Given the description of an element on the screen output the (x, y) to click on. 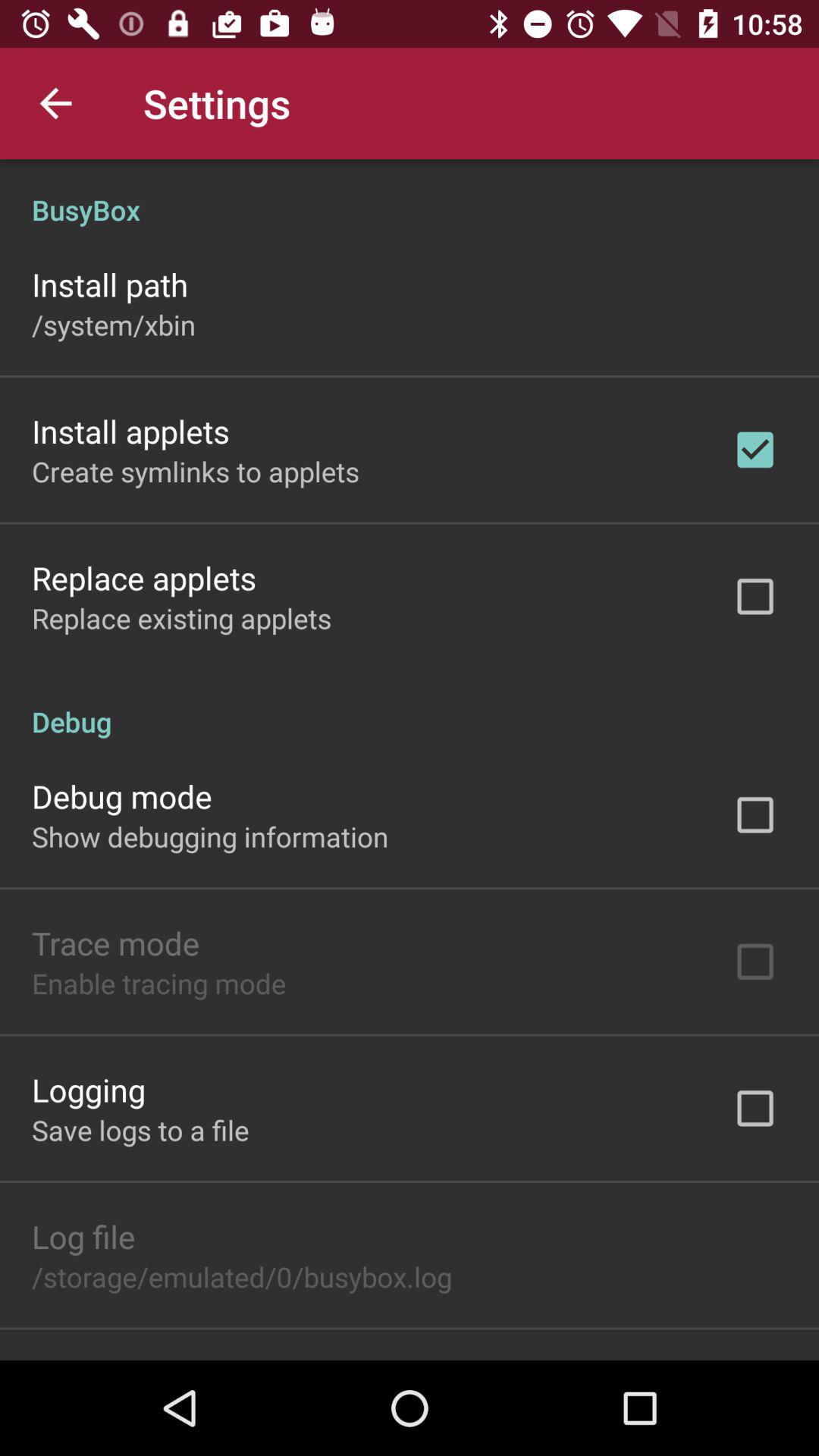
flip until log file icon (83, 1236)
